Given the description of an element on the screen output the (x, y) to click on. 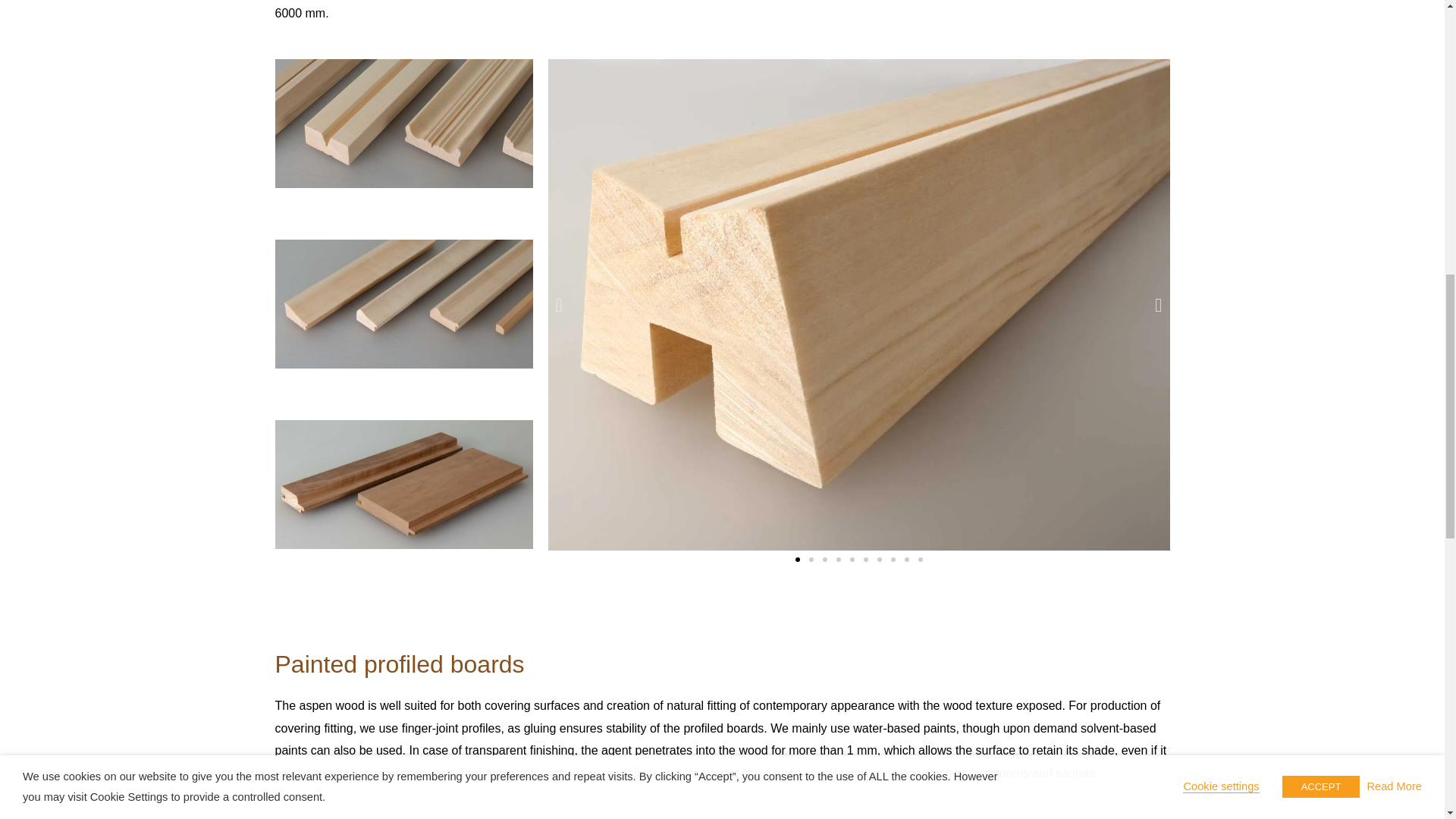
4plus finger joint boards in natural wood color (403, 484)
